Given the description of an element on the screen output the (x, y) to click on. 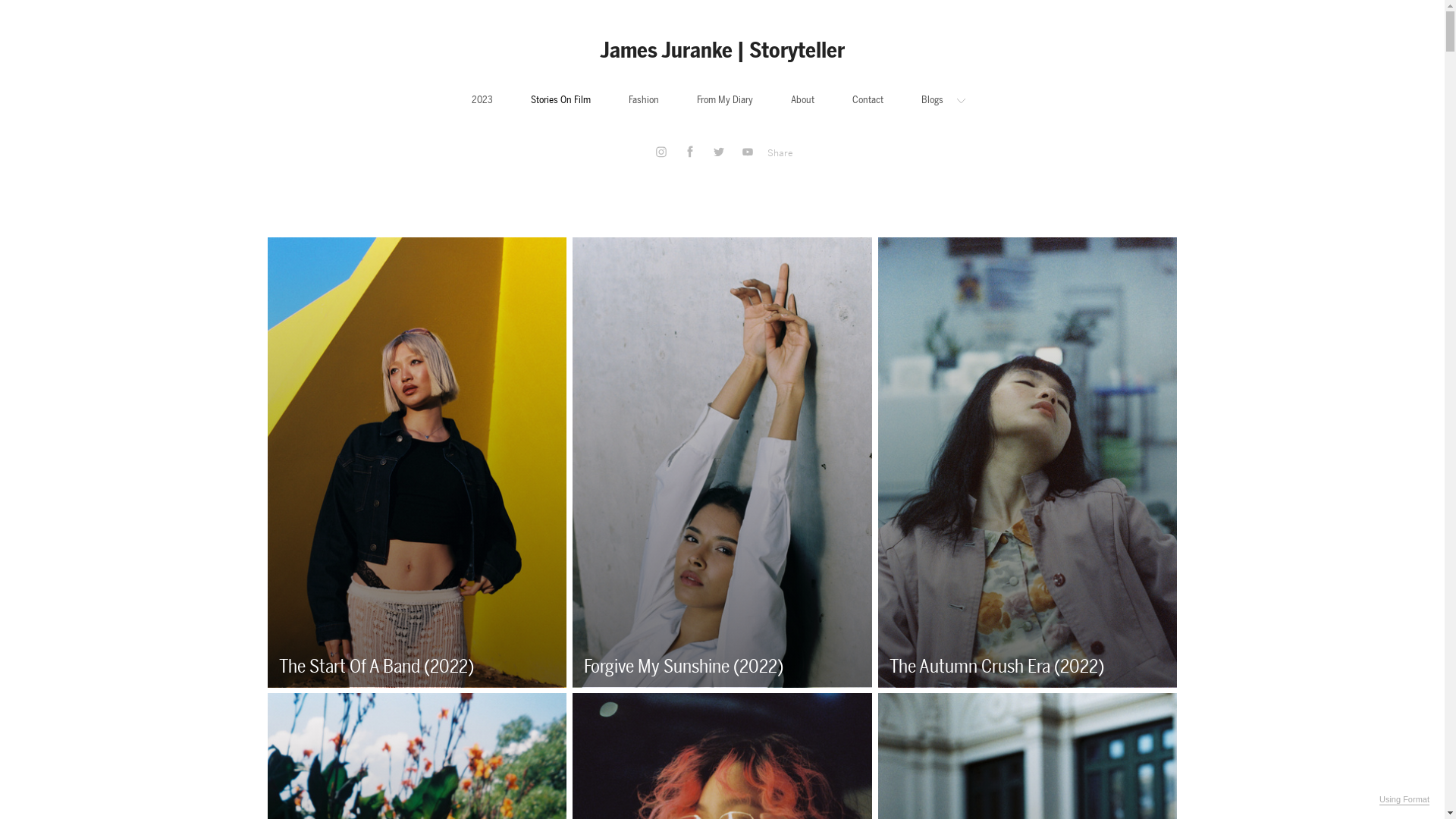
Share Element type: text (780, 152)
Blogs Element type: text (942, 99)
From My Diary Element type: text (724, 99)
2023 Element type: text (481, 99)
The Autumn Crush Era (2022) Element type: text (1027, 462)
About Element type: text (801, 99)
The Start Of A Band (2022) Element type: text (416, 462)
Stories On Film Element type: text (560, 99)
Using Format Element type: text (1404, 799)
James Juranke | Storyteller Element type: text (721, 49)
Fashion Element type: text (642, 99)
Contact Element type: text (867, 99)
Forgive My Sunshine (2022) Element type: text (722, 462)
